Given the description of an element on the screen output the (x, y) to click on. 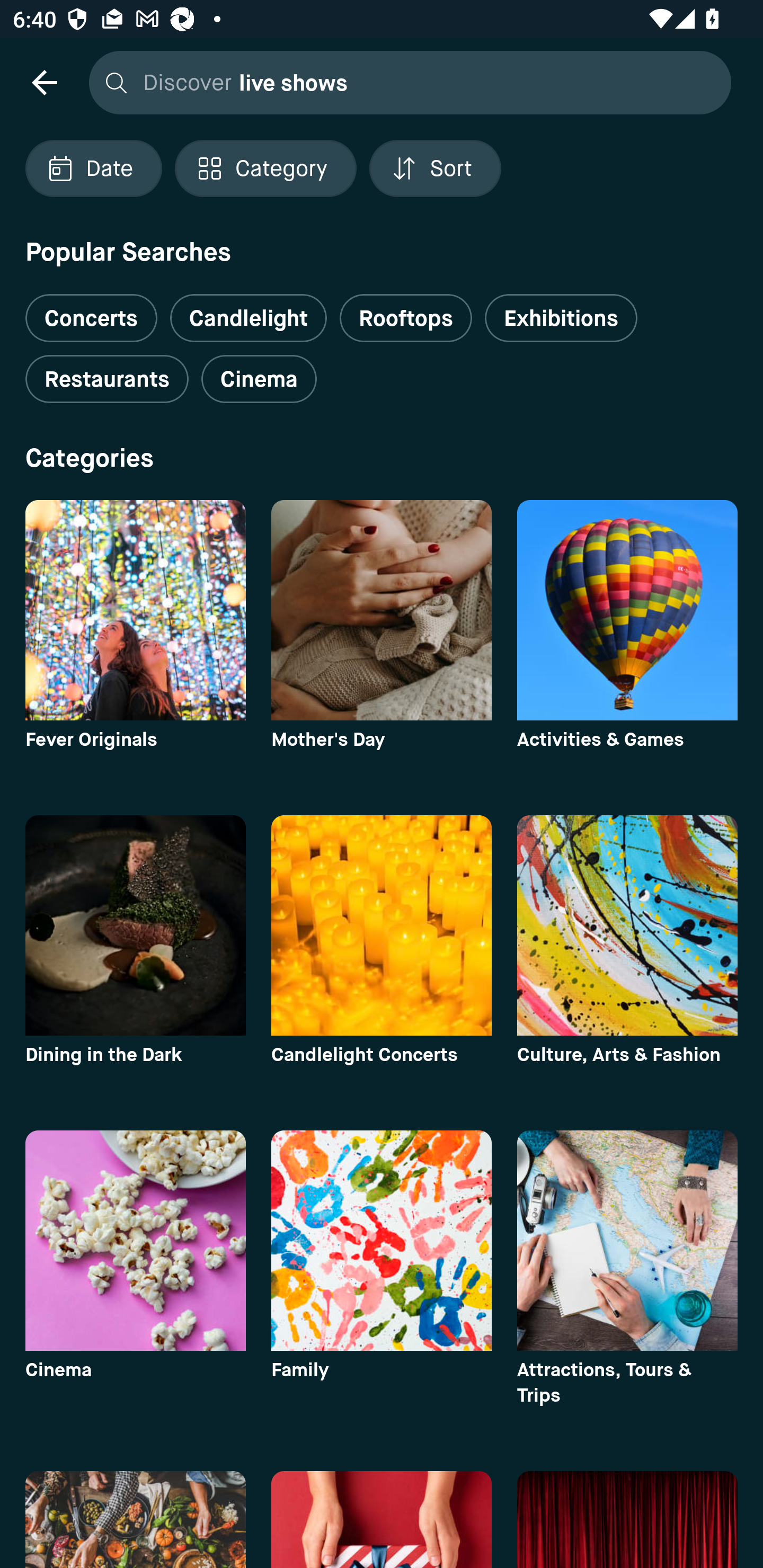
navigation icon (44, 81)
Discover live shows (405, 81)
Localized description Date (93, 168)
Localized description Category (265, 168)
Localized description Sort (435, 168)
Concerts (91, 310)
Candlelight (248, 317)
Rooftops (405, 317)
Exhibitions (560, 317)
Restaurants (106, 379)
Cinema (258, 379)
category image (135, 609)
category image (381, 609)
category image (627, 609)
category image (135, 924)
category image (381, 924)
category image (627, 924)
category image (135, 1240)
category image (381, 1240)
category image (627, 1240)
